Given the description of an element on the screen output the (x, y) to click on. 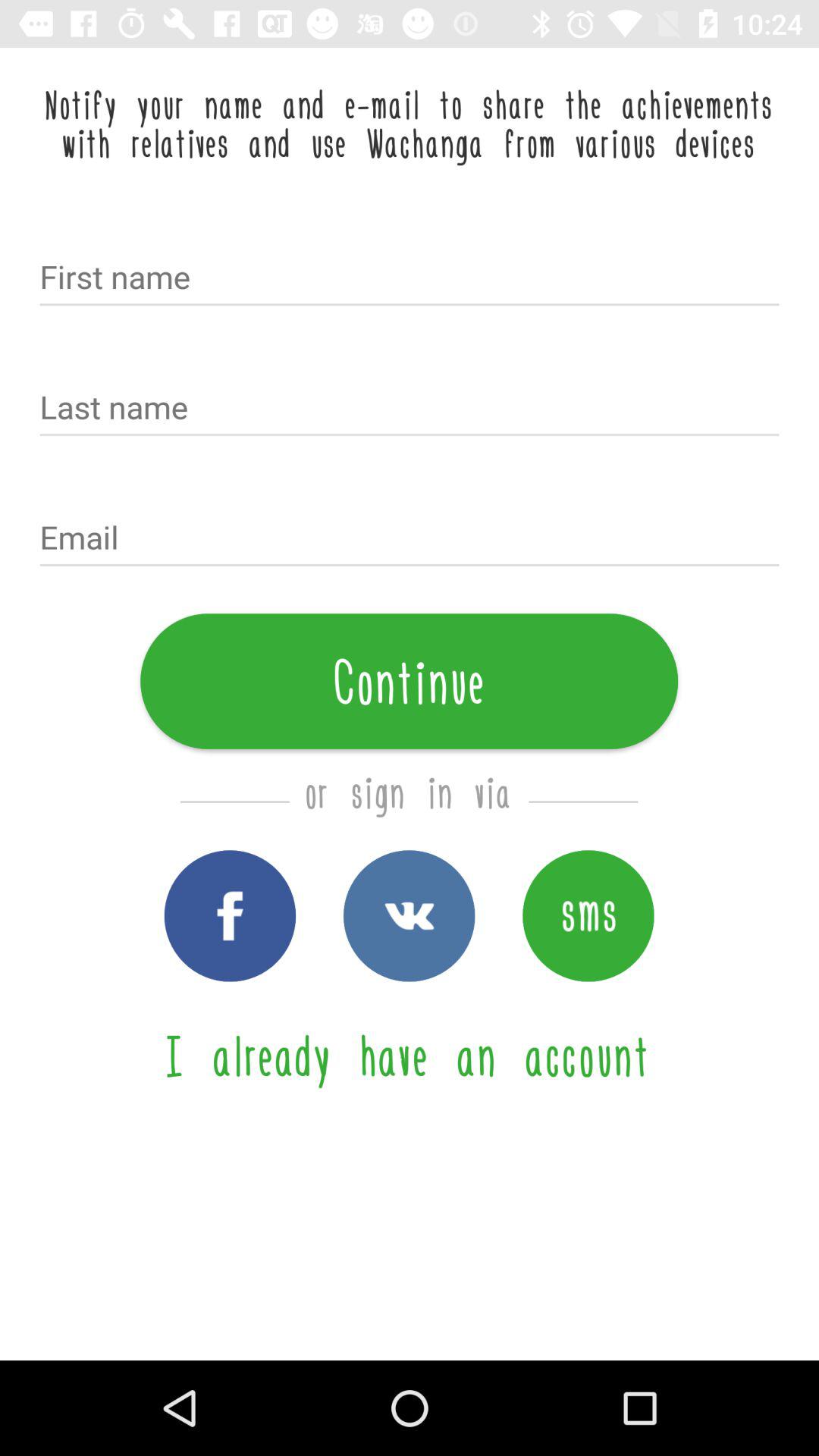
facebook sign in (229, 915)
